Given the description of an element on the screen output the (x, y) to click on. 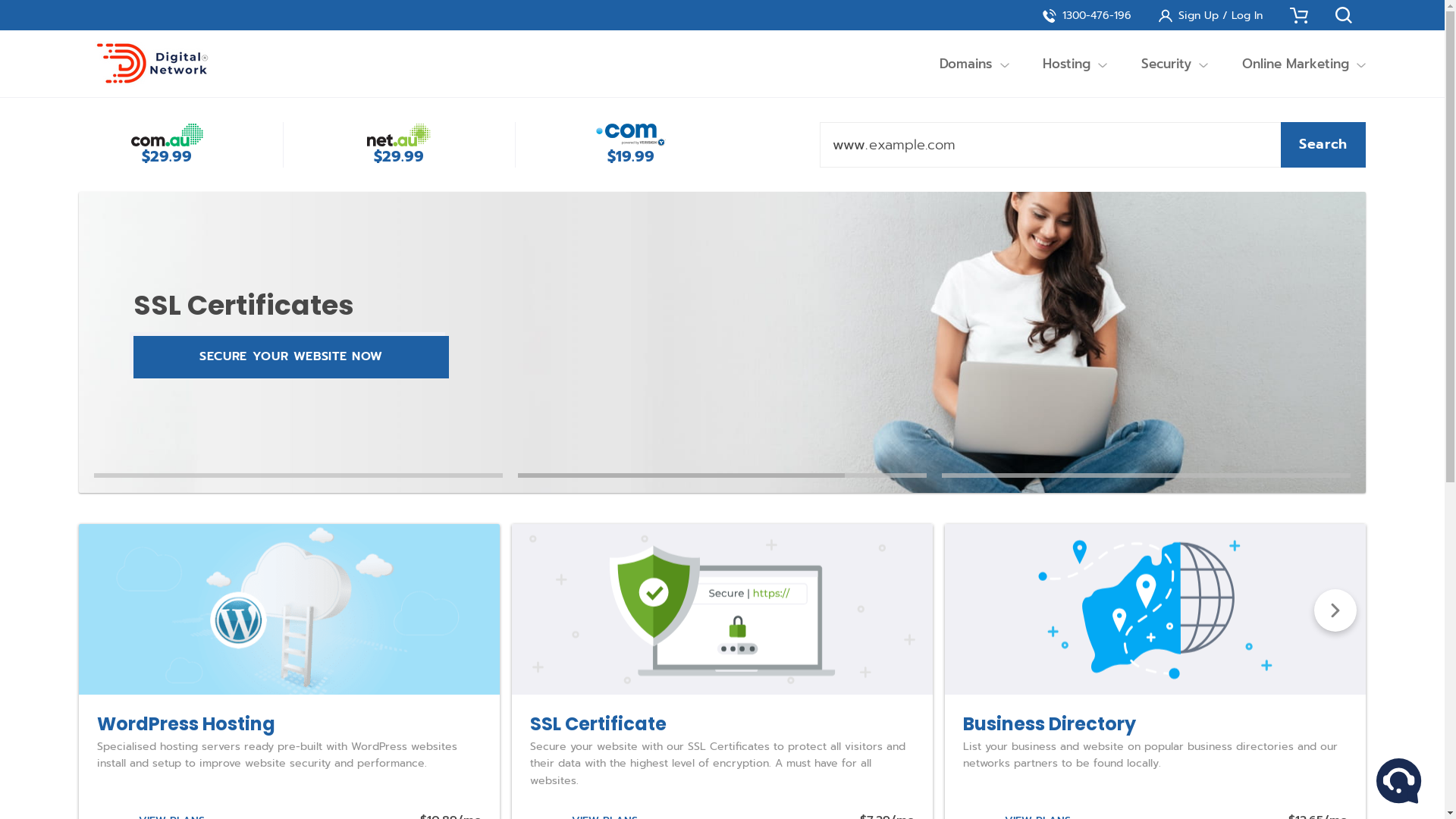
Search Element type: text (1322, 144)
Security Element type: text (1165, 63)
Hosting Element type: text (1066, 63)
Online Marketing Element type: text (1295, 63)
BUY DOMAIN NAMES Element type: text (290, 356)
Domains Element type: text (965, 63)
